Given the description of an element on the screen output the (x, y) to click on. 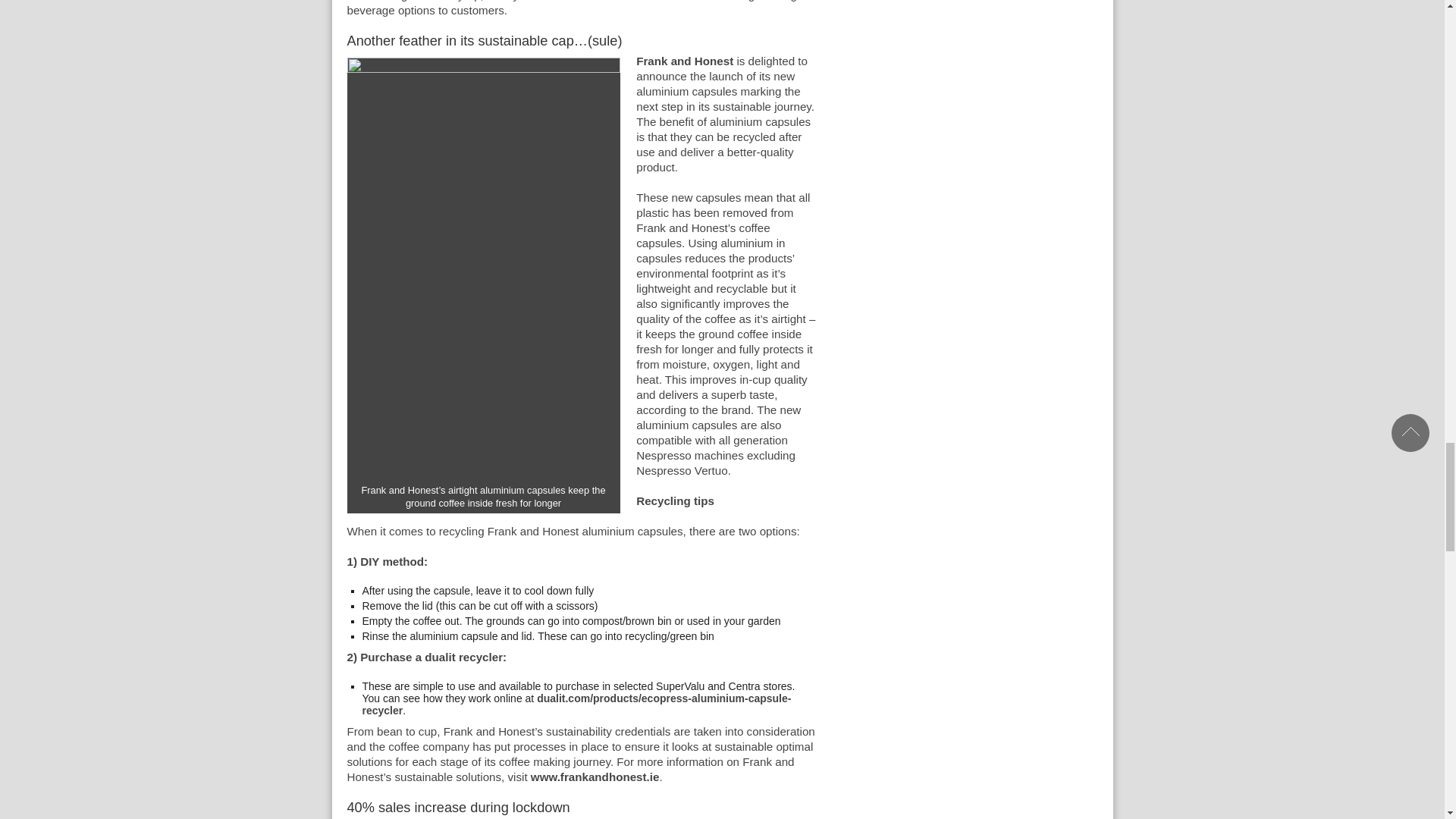
www.frankandhonest.ie (595, 776)
